Given the description of an element on the screen output the (x, y) to click on. 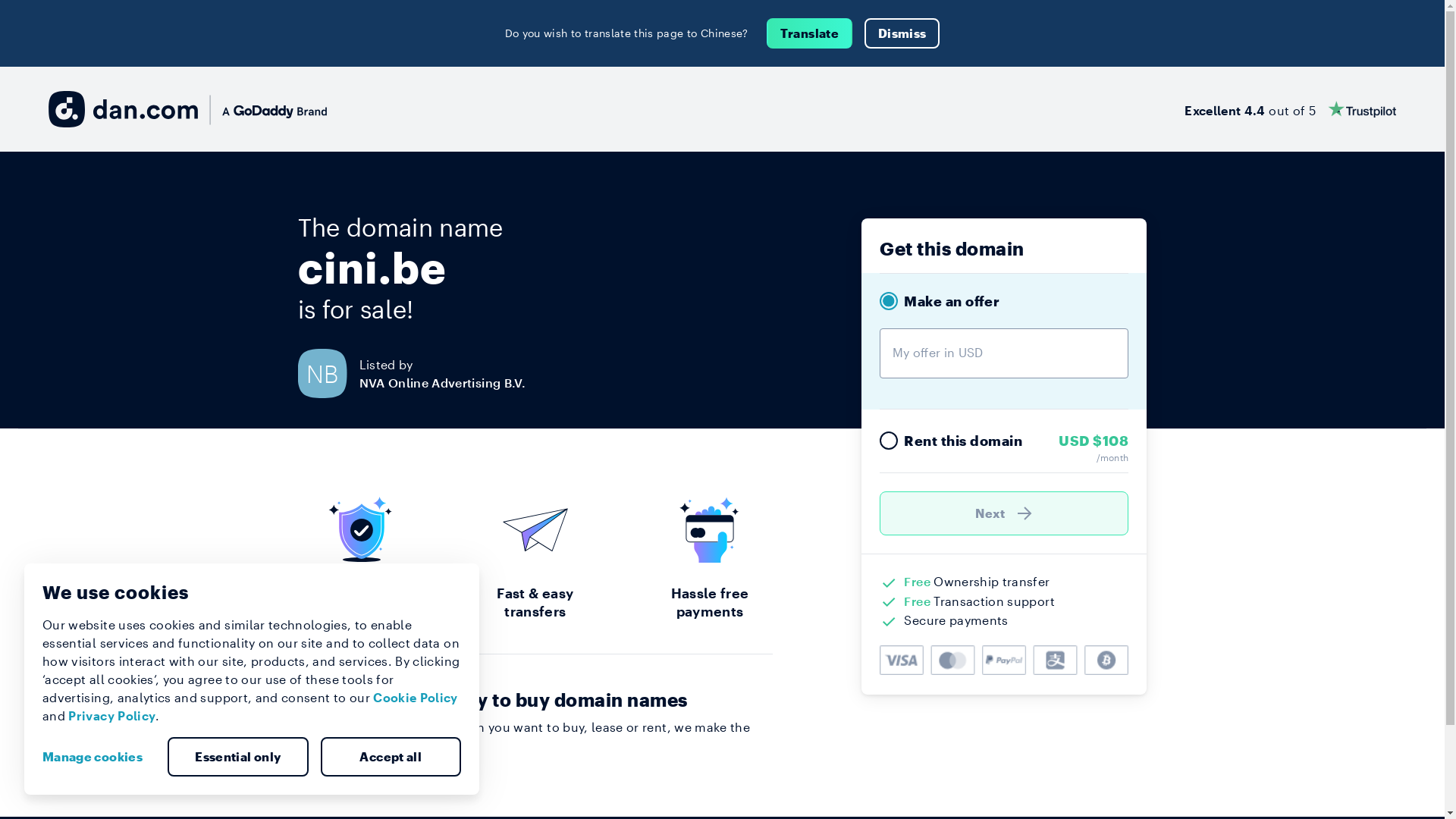
Translate Element type: text (809, 33)
Accept all Element type: text (390, 756)
Privacy Policy Element type: text (111, 715)
Manage cookies Element type: text (98, 756)
Excellent 4.4 out of 5 Element type: text (1290, 109)
Dismiss Element type: text (901, 33)
Essential only Element type: text (237, 756)
Next
) Element type: text (1003, 513)
Cookie Policy Element type: text (415, 697)
